Given the description of an element on the screen output the (x, y) to click on. 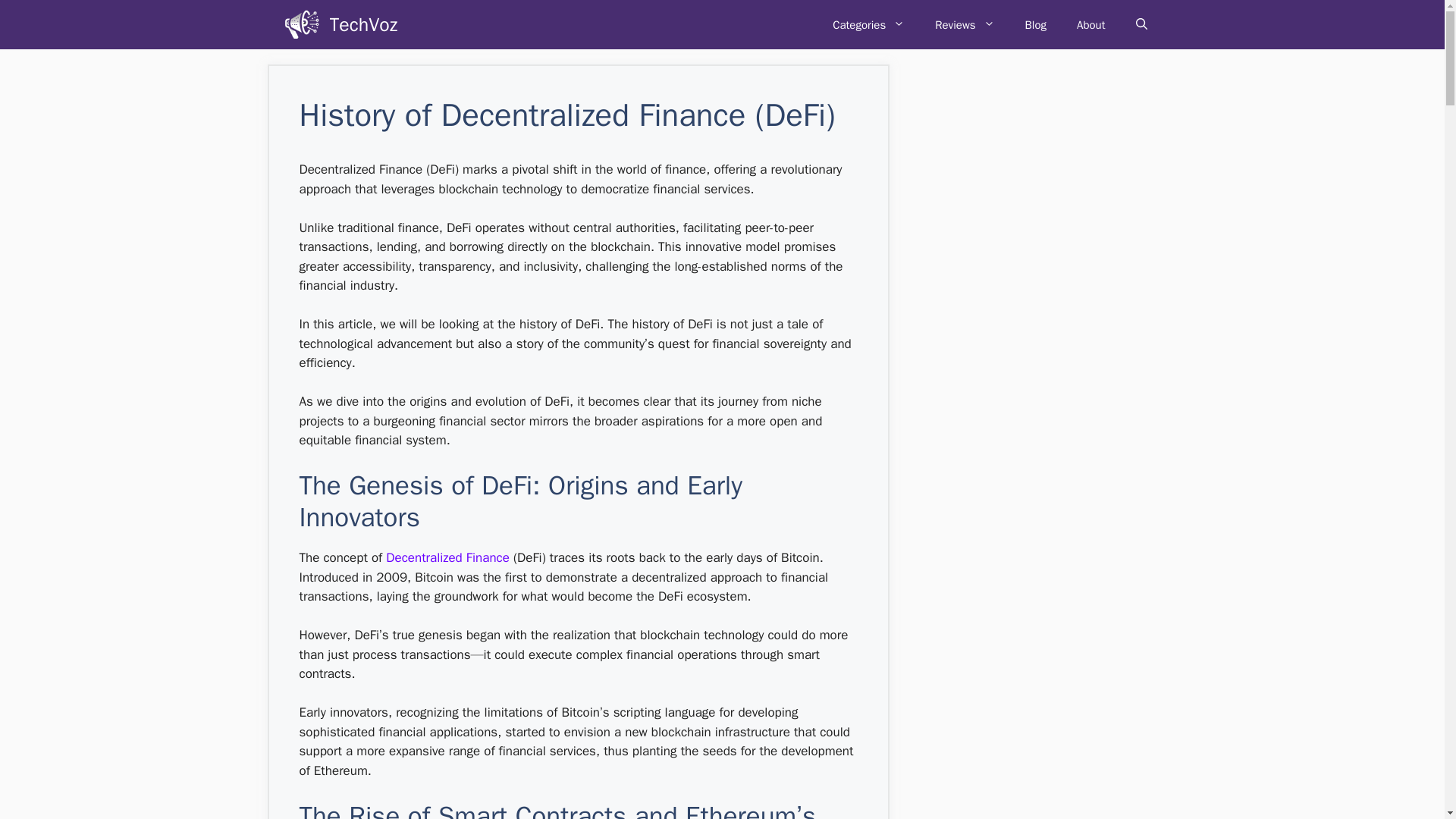
About (1090, 23)
Decentralized Finance (447, 557)
Reviews (964, 23)
Blog (1035, 23)
Categories (868, 23)
TechVoz (363, 24)
